Given the description of an element on the screen output the (x, y) to click on. 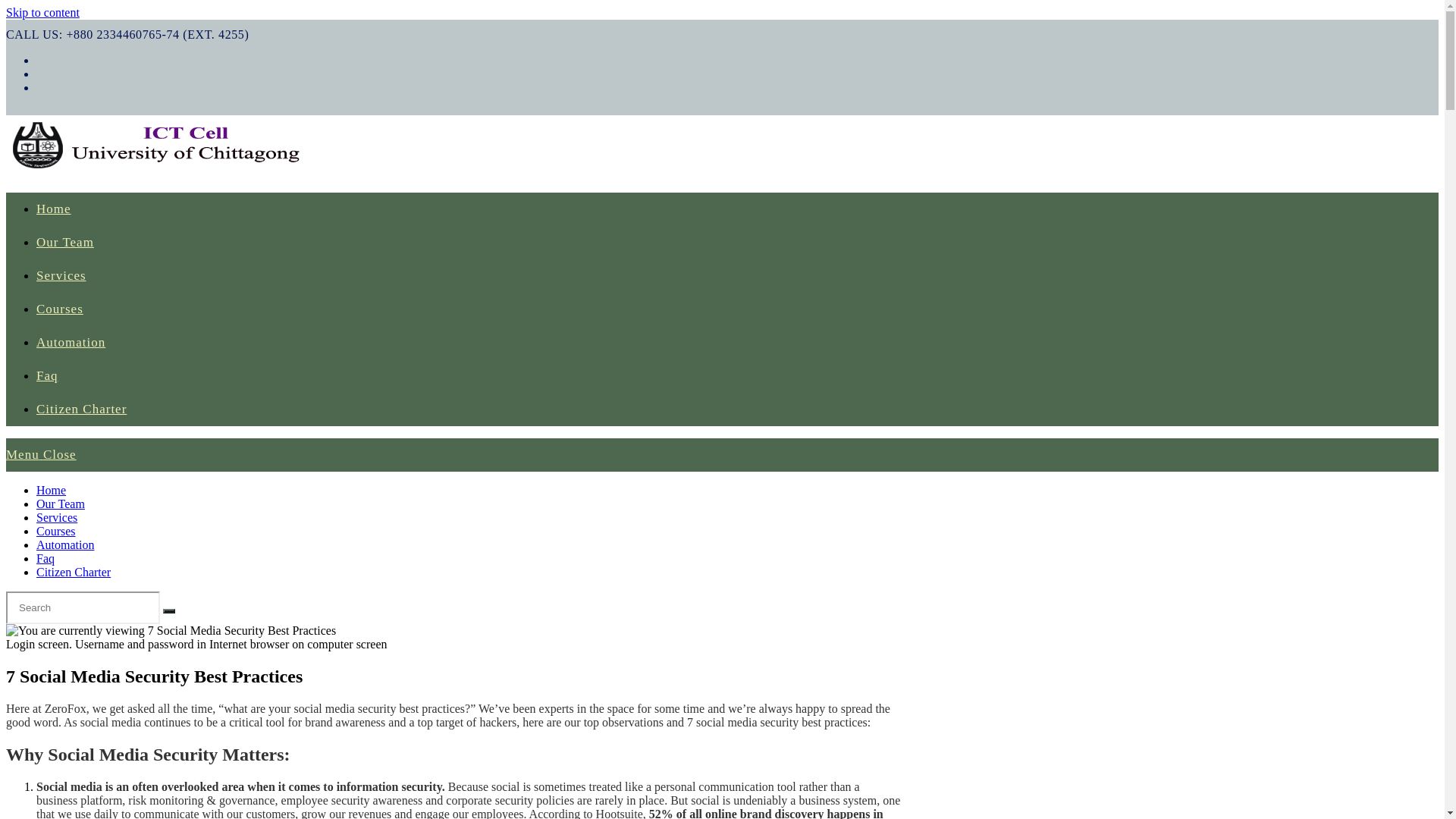
Home Element type: text (50, 489)
Courses Element type: text (59, 308)
Citizen Charter Element type: text (73, 571)
Courses Element type: text (55, 530)
Our Team Element type: text (60, 503)
Faq Element type: text (45, 558)
Menu Close Element type: text (41, 454)
Automation Element type: text (65, 544)
Services Element type: text (56, 517)
Citizen Charter Element type: text (81, 408)
Faq Element type: text (47, 375)
Services Element type: text (61, 275)
Our Team Element type: text (65, 242)
Automation Element type: text (70, 342)
Skip to content Element type: text (42, 12)
Home Element type: text (53, 208)
